Given the description of an element on the screen output the (x, y) to click on. 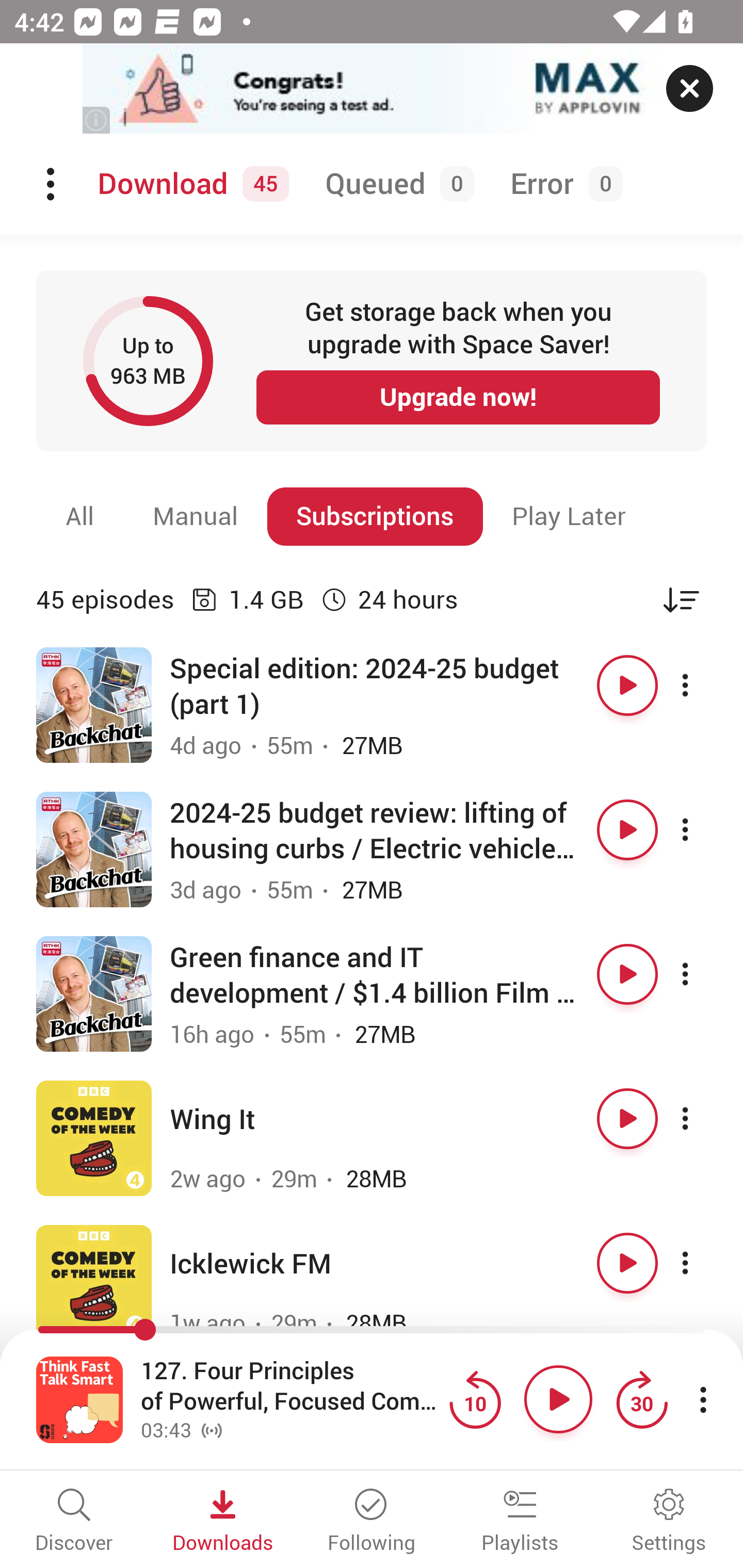
app-monetization (371, 88)
(i) (96, 119)
Menu (52, 184)
 Download 45 (189, 184)
 Queued 0 (396, 184)
 Error 0 (562, 184)
All (80, 516)
Manual (195, 516)
Subscriptions (374, 516)
Play Later (568, 516)
Change sort order (681, 599)
Play button (627, 685)
More options (703, 685)
Open series Backchat (93, 705)
Play button (627, 830)
More options (703, 830)
Open series Backchat (93, 849)
Play button (627, 974)
More options (703, 974)
Open series Backchat (93, 994)
Play button (627, 1118)
More options (703, 1118)
Open series Comedy of the Week (93, 1138)
Play button (627, 1263)
More options (703, 1263)
Open series Comedy of the Week (93, 1282)
Open fullscreen player (79, 1399)
More player controls (703, 1399)
Play button (558, 1398)
Jump back (475, 1399)
Jump forward (641, 1399)
Discover (74, 1521)
Downloads (222, 1521)
Following (371, 1521)
Playlists (519, 1521)
Settings (668, 1521)
